Given the description of an element on the screen output the (x, y) to click on. 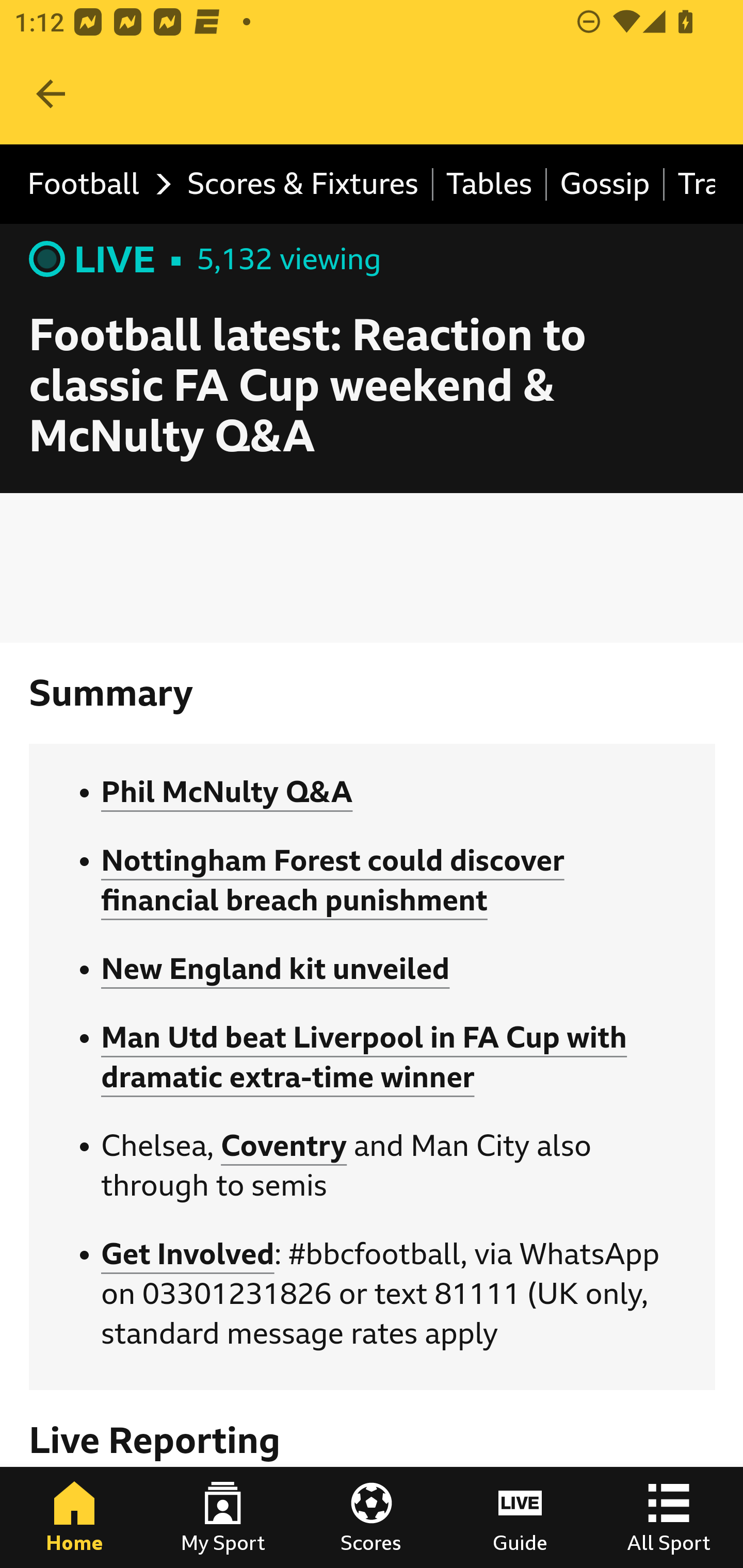
Navigate up (50, 93)
Football (94, 184)
Scores & Fixtures (303, 184)
Tables (490, 184)
Gossip (605, 184)
Phil McNulty Q&A (227, 792)
New England kit unveiled (276, 969)
Coventry (284, 1145)
Get Involved (187, 1254)
My Sport (222, 1517)
Scores (371, 1517)
Guide (519, 1517)
All Sport (668, 1517)
